Given the description of an element on the screen output the (x, y) to click on. 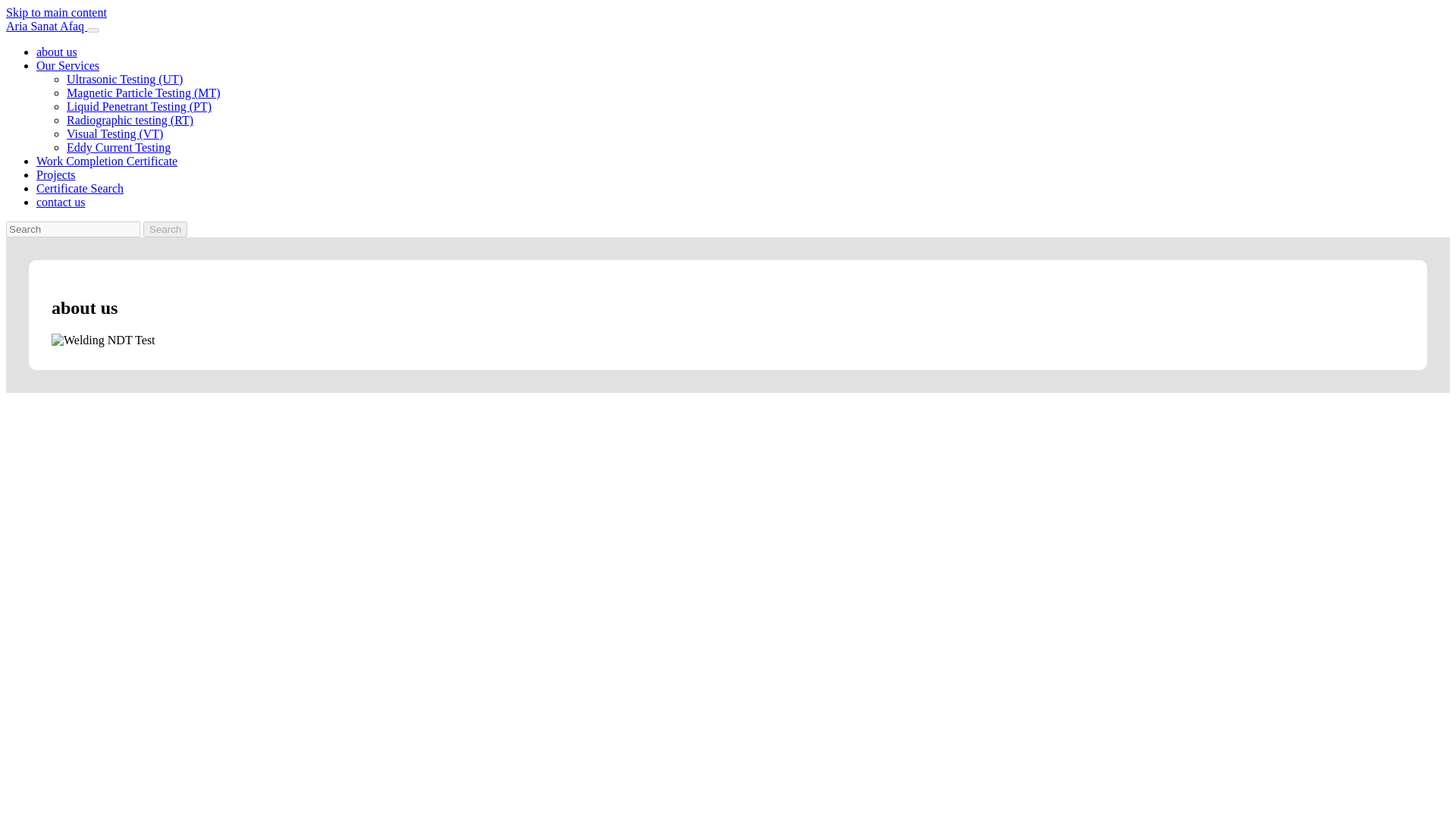
Certificate Search (79, 187)
about us (56, 51)
Aria Sanat Afaq (46, 25)
Certificate Search (79, 187)
Projects (55, 174)
Skip to main content (55, 11)
about us (56, 51)
Search (164, 229)
Work Completion Certificate (106, 160)
Eddy Current Testing (118, 146)
Aria Sanat Afaq (46, 25)
Work Completion Certificate (106, 160)
Our Services (67, 65)
Eddy Current Testing (118, 146)
Projects (55, 174)
